Given the description of an element on the screen output the (x, y) to click on. 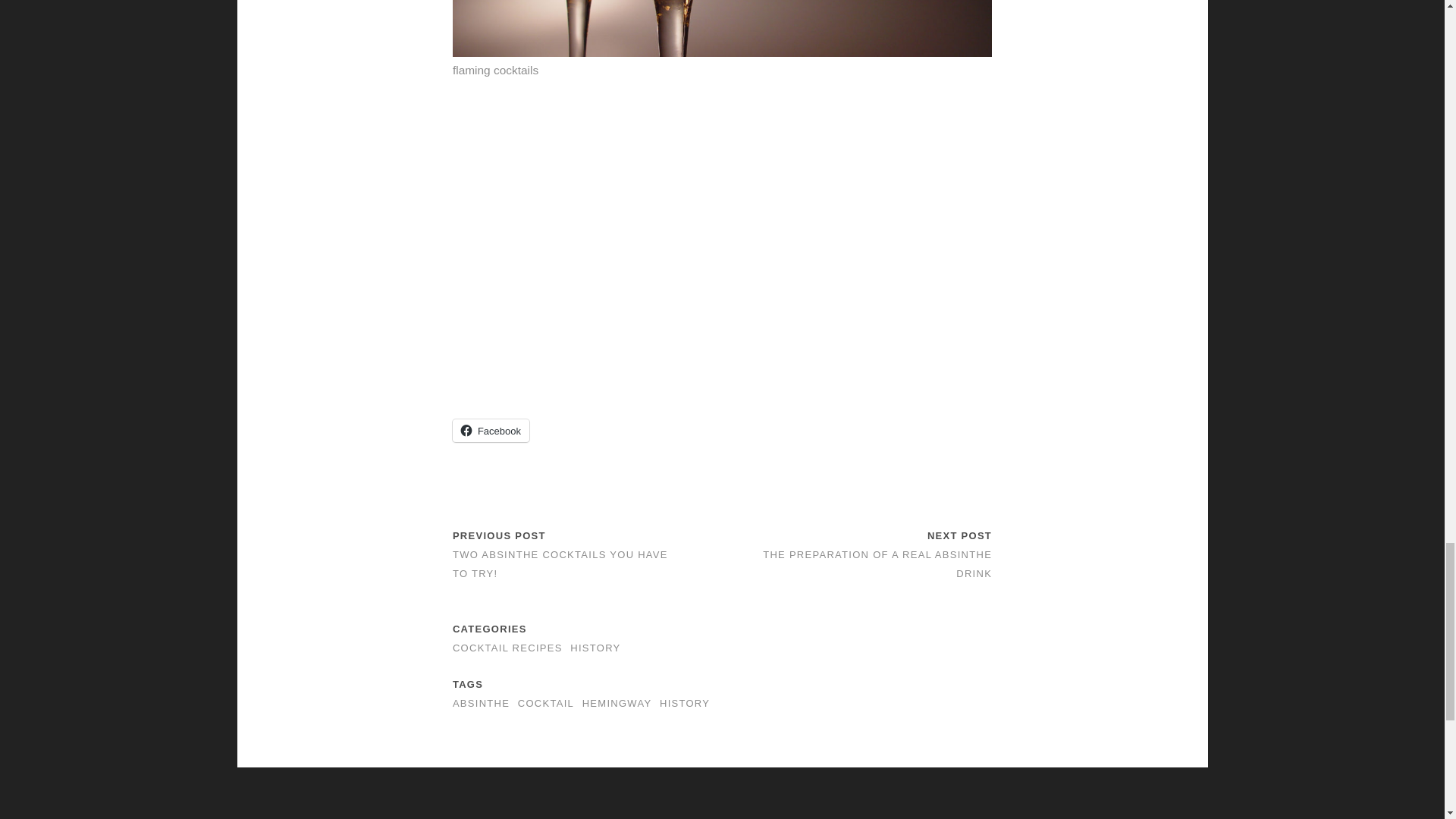
TWO ABSINTHE COCKTAILS YOU HAVE TO TRY! (560, 563)
COCKTAIL (545, 703)
HEMINGWAY (617, 703)
View all posts tagged cocktail (545, 703)
THE PREPARATION OF A REAL ABSINTHE DRINK (876, 563)
ABSINTHE (480, 703)
View all posts tagged hemingway (617, 703)
View all posts tagged history (684, 703)
Facebook (490, 430)
View all posts in history (595, 647)
HISTORY (684, 703)
View all posts tagged absinthe (480, 703)
View all posts in cocktail recipes (507, 647)
Click to share on Facebook (490, 430)
HISTORY (595, 647)
